Given the description of an element on the screen output the (x, y) to click on. 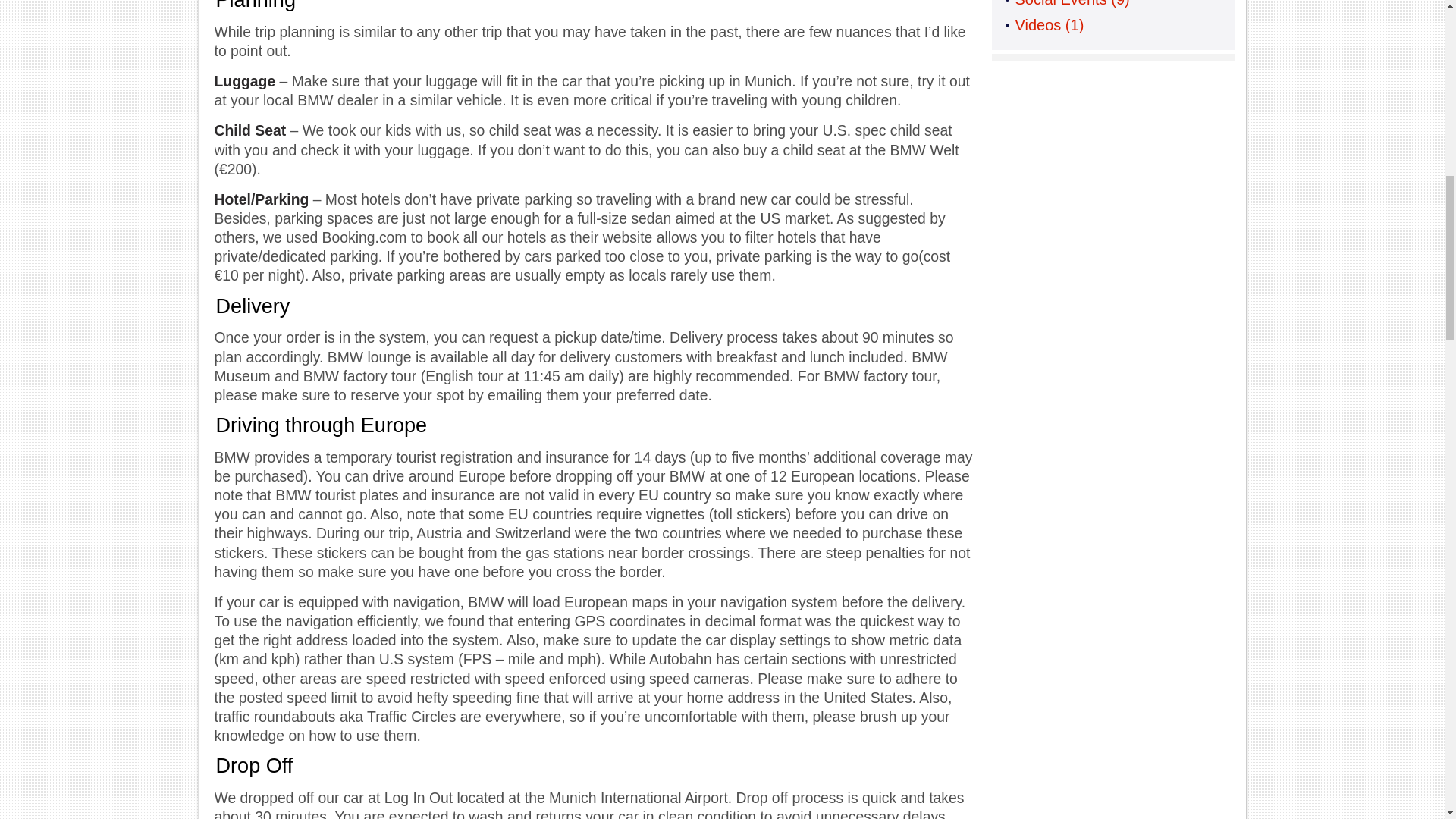
Social Events (1060, 3)
Videos (1037, 24)
